Given the description of an element on the screen output the (x, y) to click on. 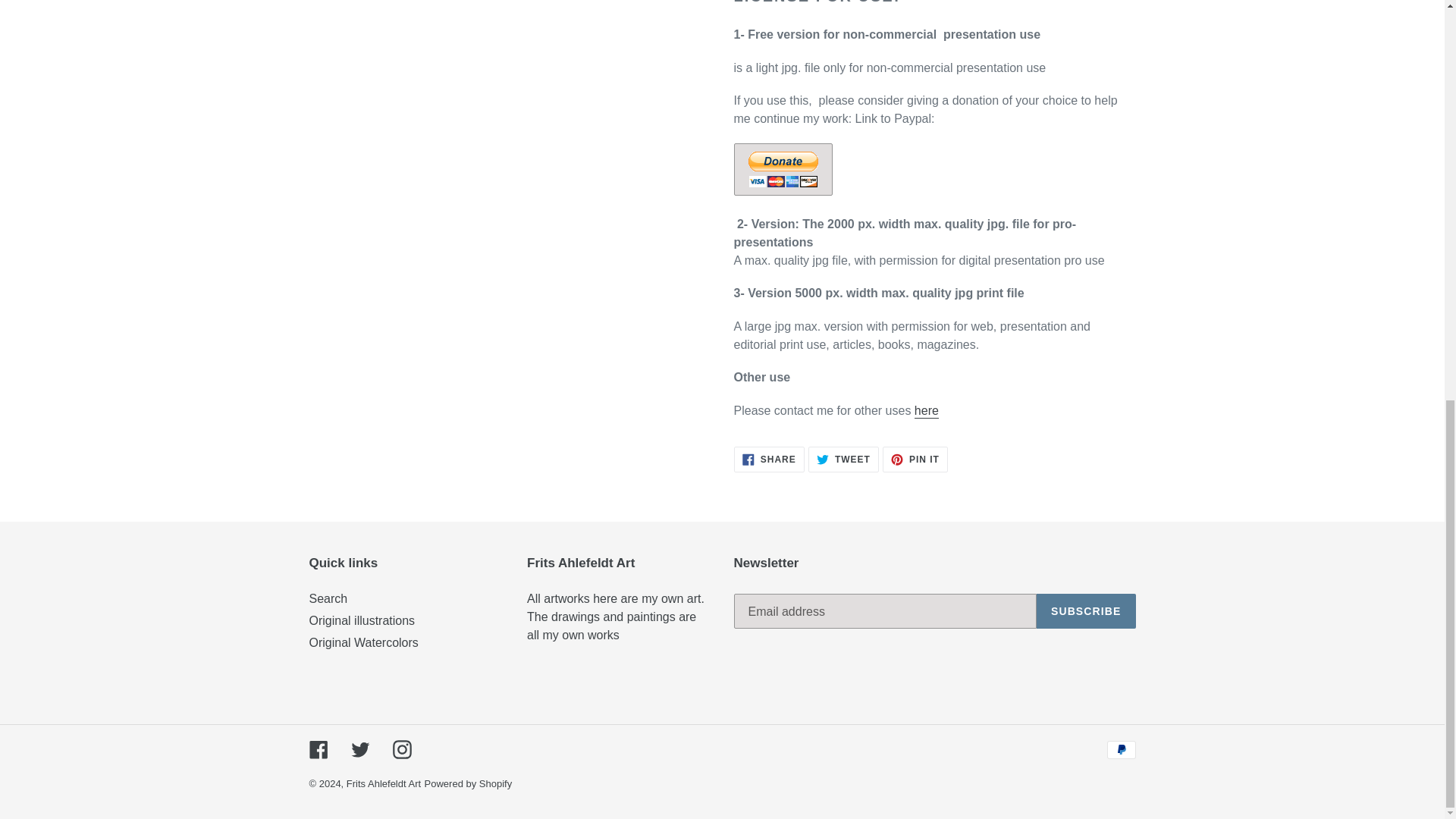
Frits Ahlefeldt Art (383, 783)
here (769, 459)
Facebook (843, 459)
Contact form (926, 411)
Instagram (318, 749)
Search (926, 411)
Twitter (402, 749)
Original illustrations (327, 598)
PayPal - The safer, easier way to pay online! (359, 749)
Original Watercolors (361, 620)
SUBSCRIBE (782, 169)
